Given the description of an element on the screen output the (x, y) to click on. 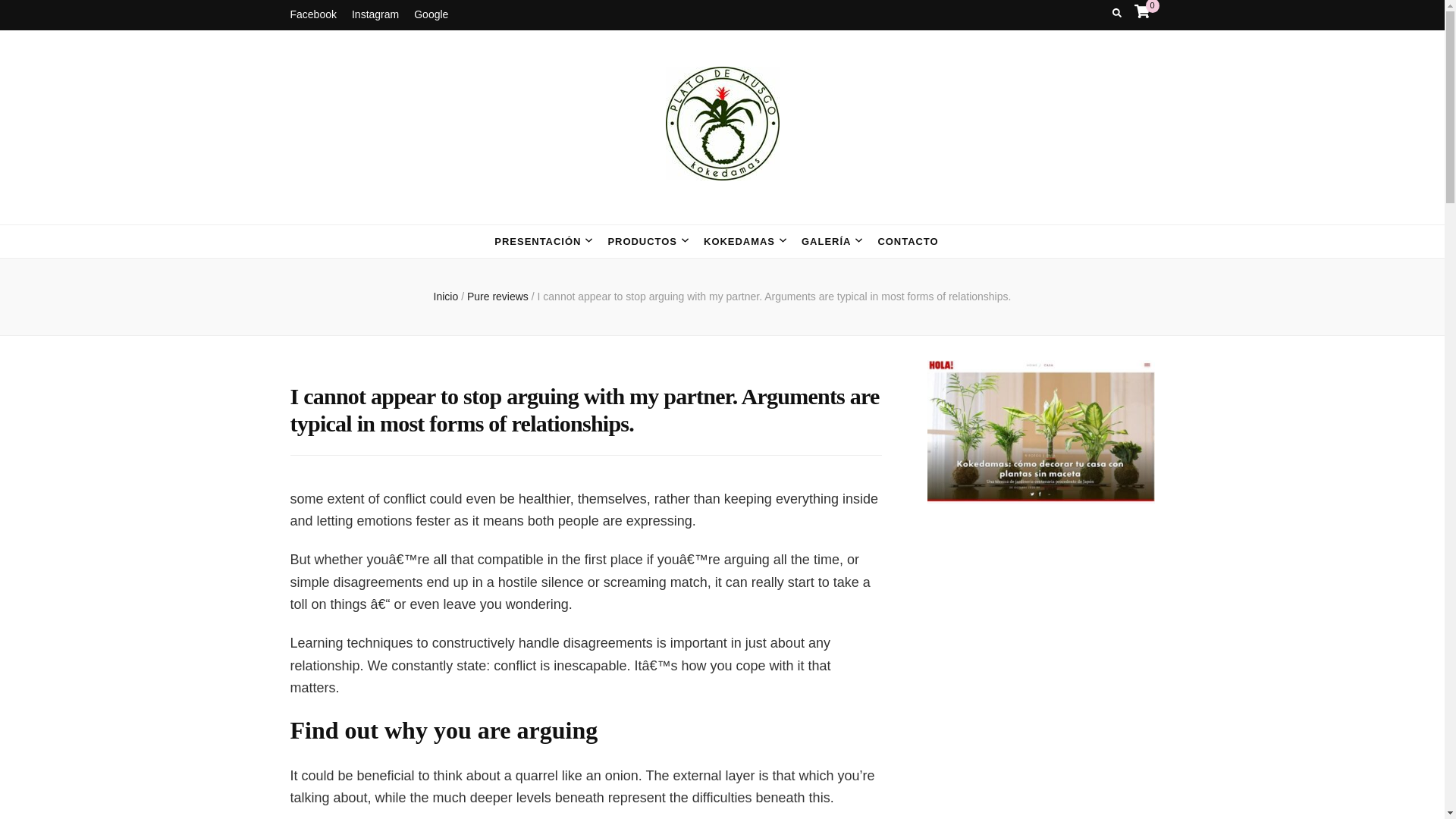
Ver tu carrito de la compra (1142, 11)
Pure reviews (499, 296)
Google (430, 15)
Instagram (375, 15)
0 (1142, 11)
PRODUCTOS (642, 241)
CONTACTO (907, 241)
Facebook (312, 15)
Plato de Musgo (436, 211)
KOKEDAMAS (738, 241)
Inicio (445, 296)
